Given the description of an element on the screen output the (x, y) to click on. 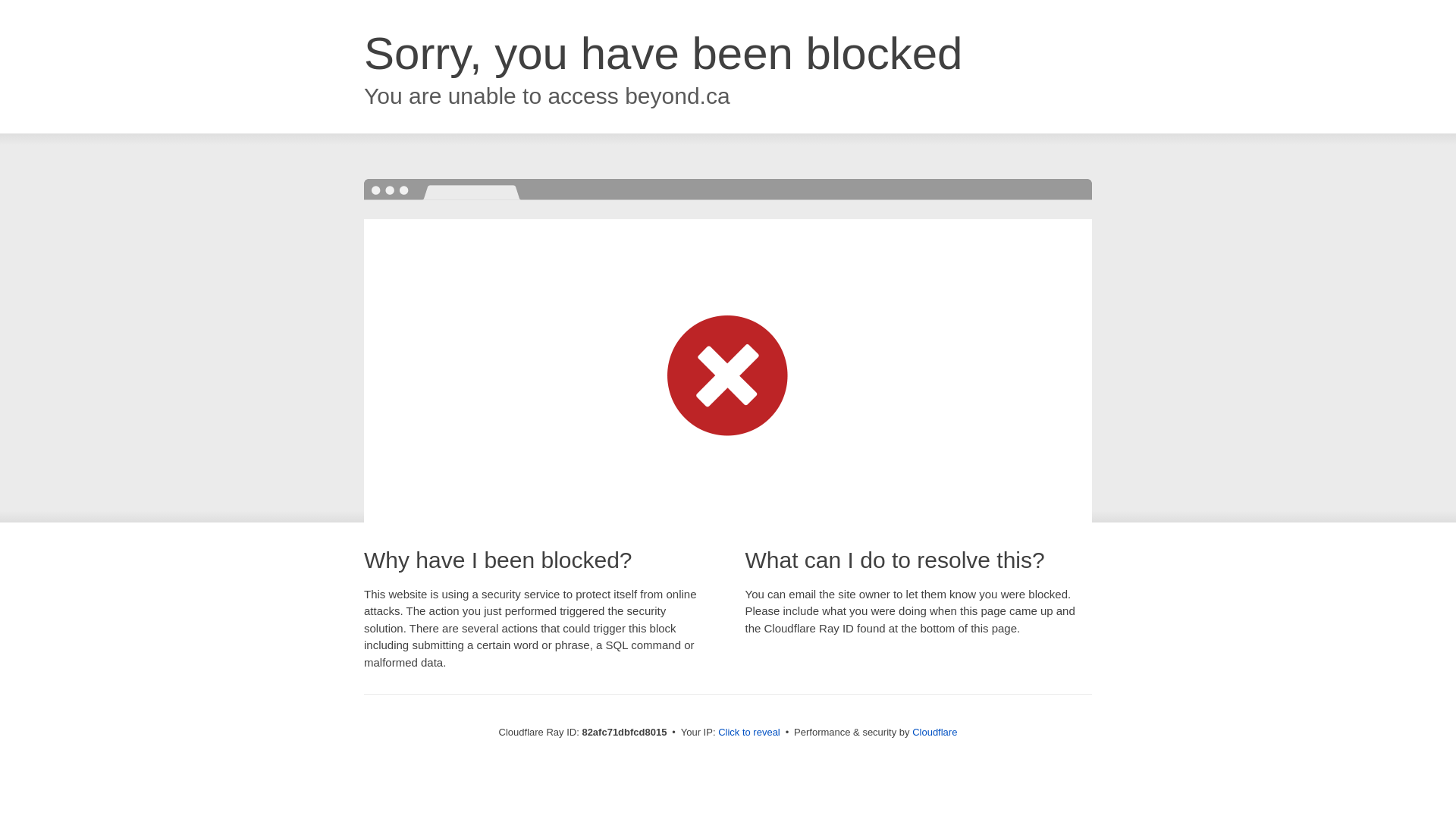
Click to reveal Element type: text (749, 732)
Cloudflare Element type: text (934, 731)
